Given the description of an element on the screen output the (x, y) to click on. 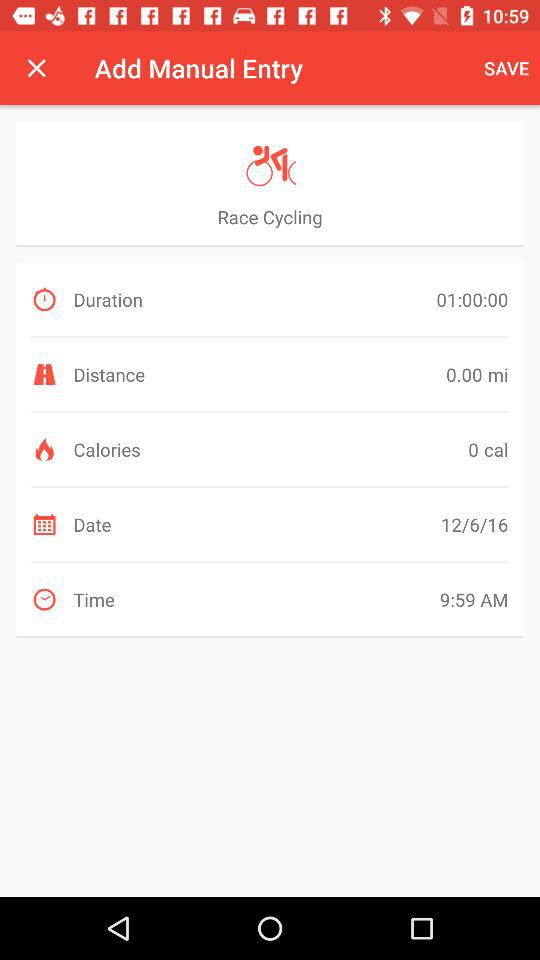
open icon next to add manual entry item (506, 67)
